Given the description of an element on the screen output the (x, y) to click on. 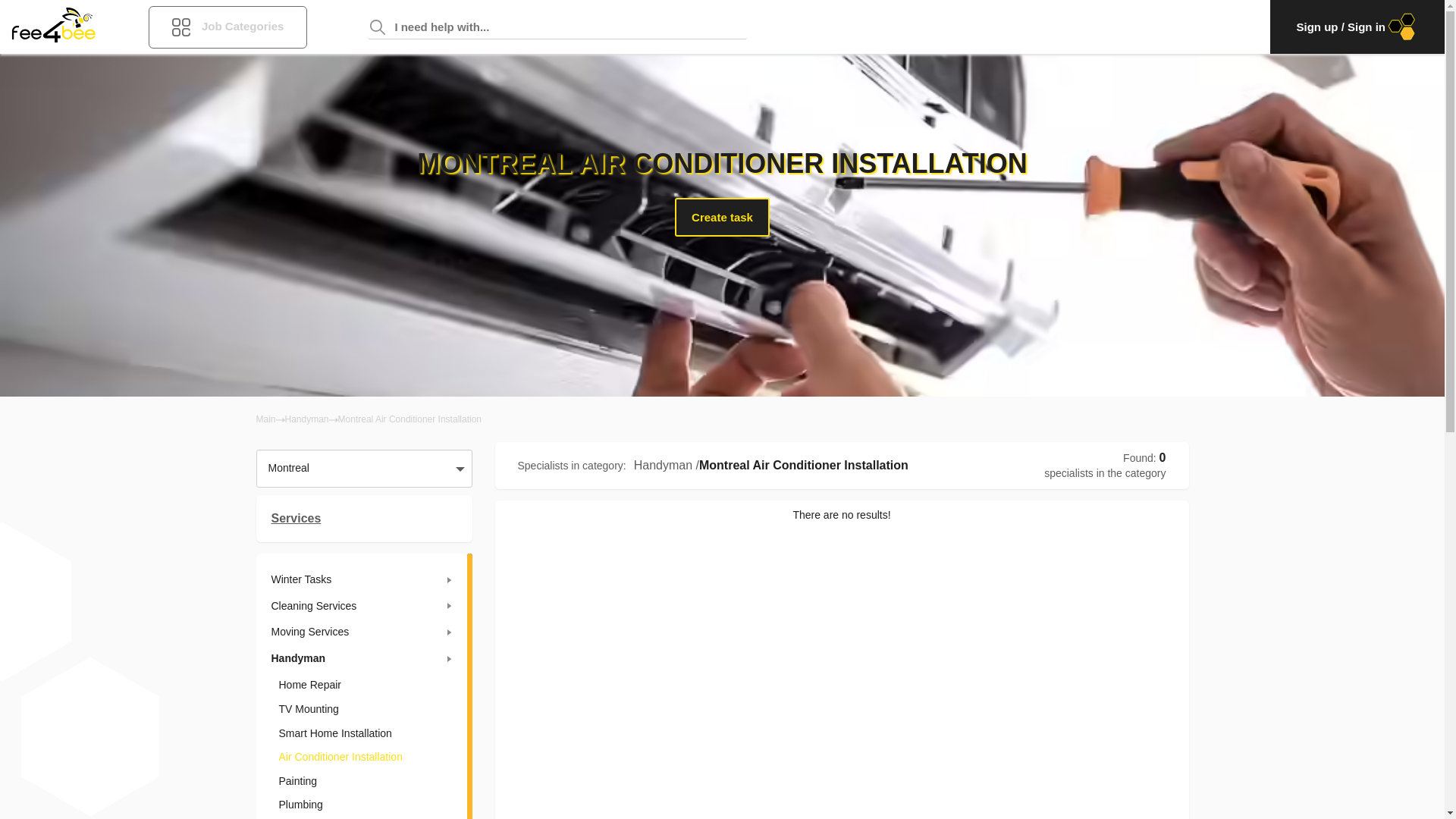
Job Categories (227, 26)
